Given the description of an element on the screen output the (x, y) to click on. 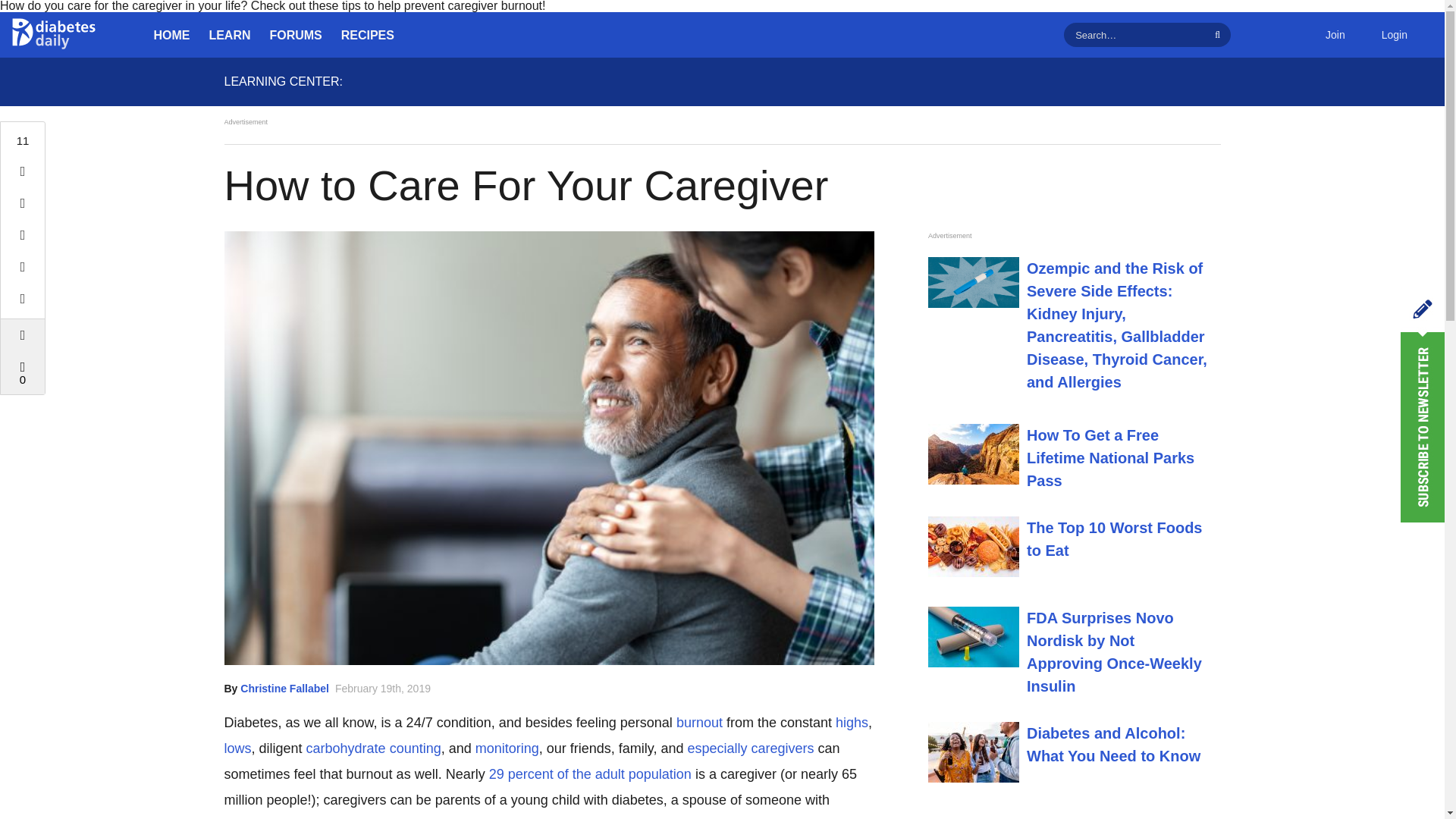
RECIPES (367, 35)
FORUMS (295, 35)
Login (1393, 34)
HOME (171, 35)
LEARN (229, 35)
Join (1334, 34)
